Given the description of an element on the screen output the (x, y) to click on. 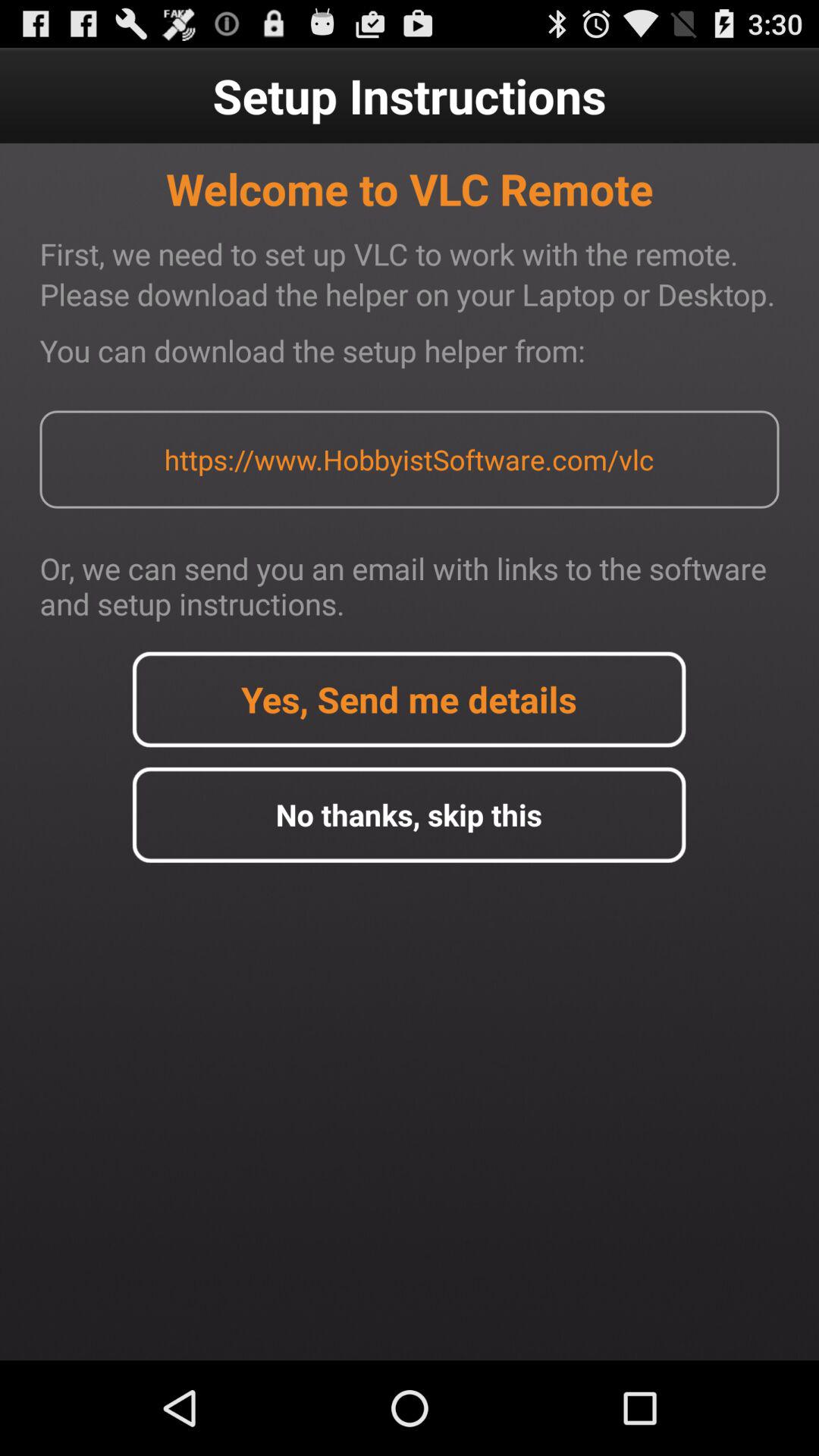
click item above the or we can item (409, 459)
